Given the description of an element on the screen output the (x, y) to click on. 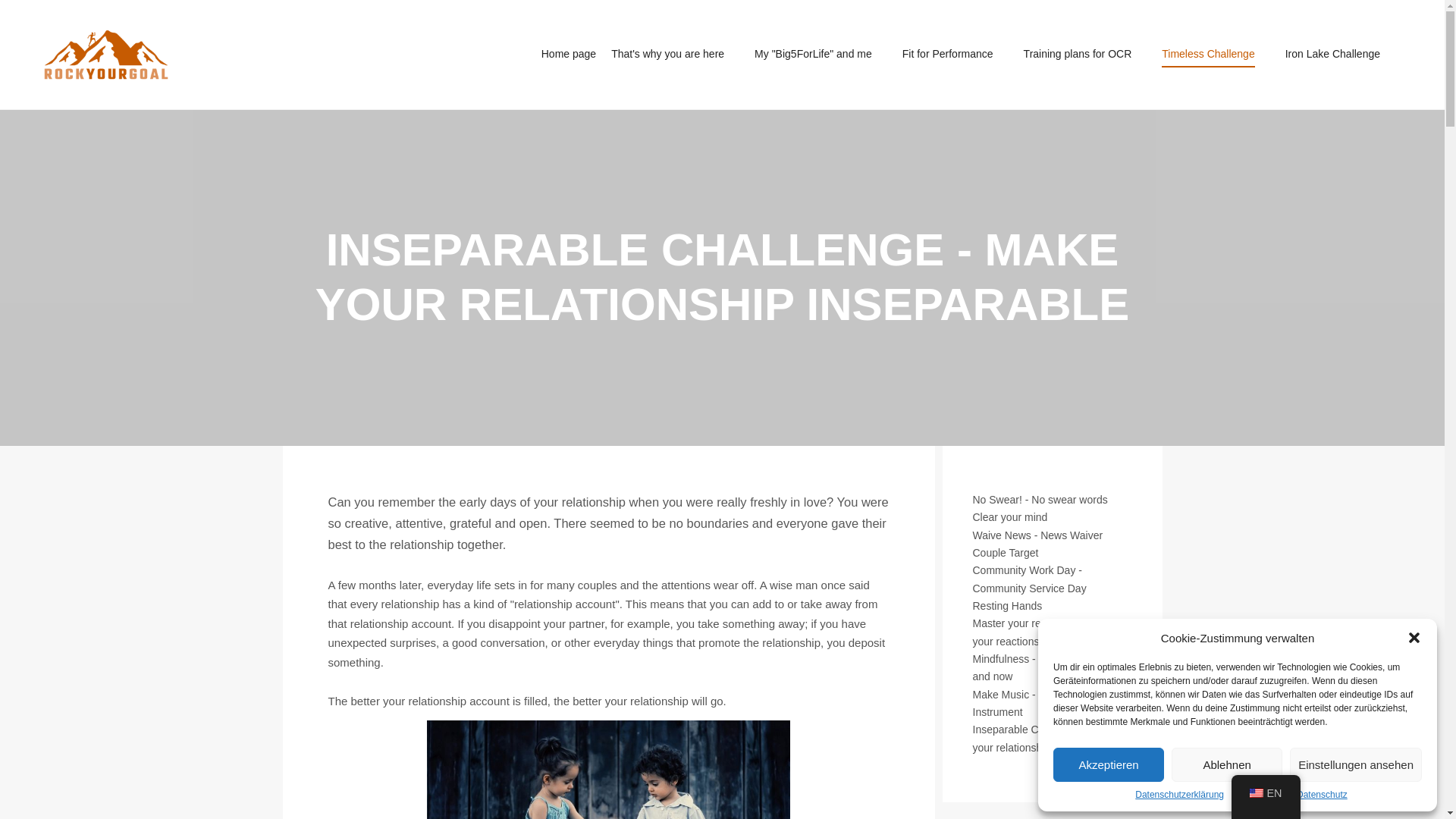
My "Big5ForLife" and me (810, 54)
Einstellungen ansehen (1356, 764)
Akzeptieren (1107, 764)
That's why you are here (665, 54)
RockYourGoal (106, 54)
English (1256, 792)
Impressum und Datenschutz (1289, 794)
Fit for Performance (945, 54)
Ablehnen (1227, 764)
